Given the description of an element on the screen output the (x, y) to click on. 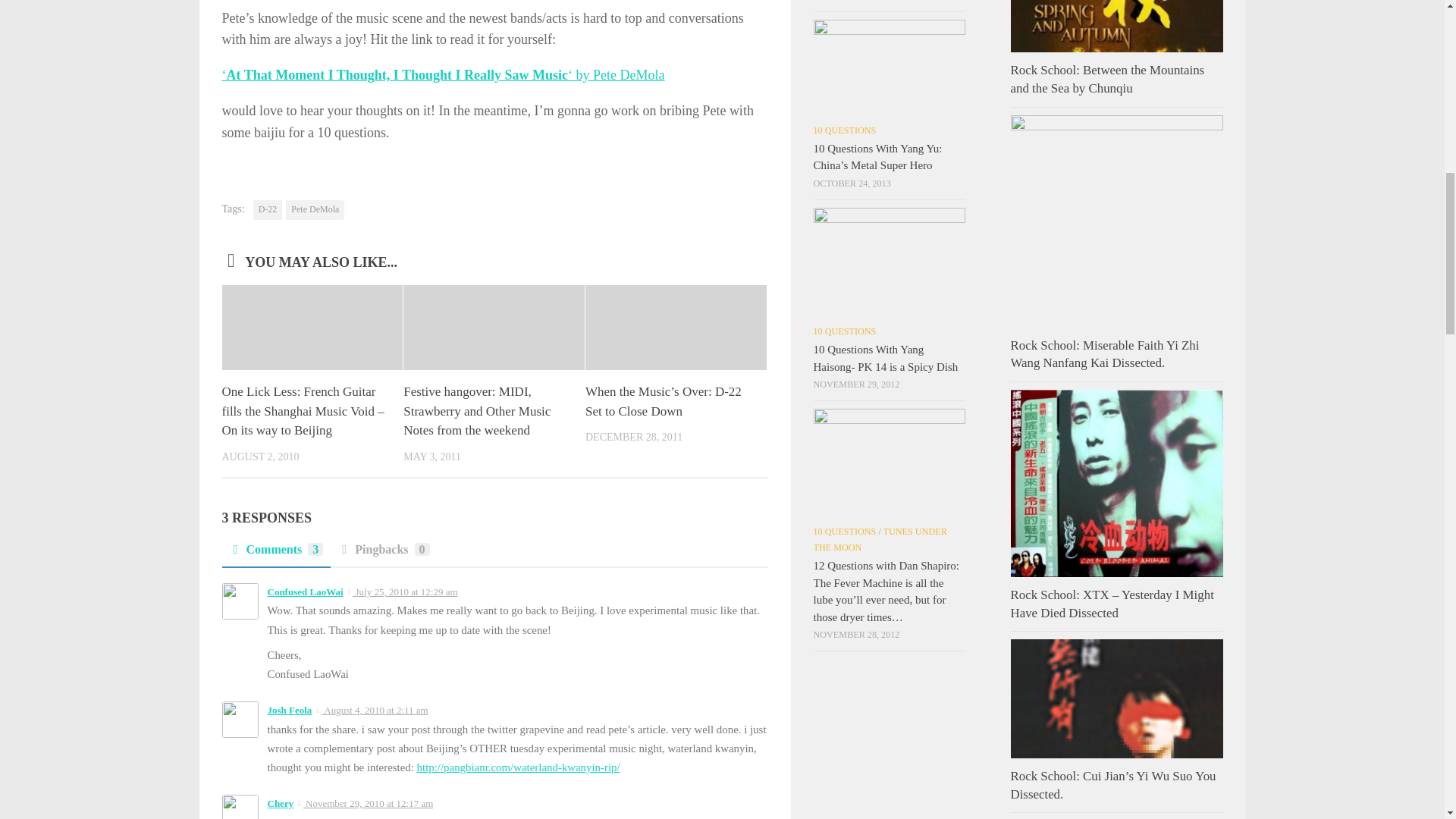
Comments3 (275, 554)
Pingbacks0 (383, 554)
Josh Feola (288, 709)
Pete DeMola (314, 209)
D-22 (267, 209)
July 25, 2010 at 12:29 am (404, 591)
August 4, 2010 at 2:11 am (374, 709)
November 29, 2010 at 12:17 am (367, 803)
Chery (280, 803)
